Given the description of an element on the screen output the (x, y) to click on. 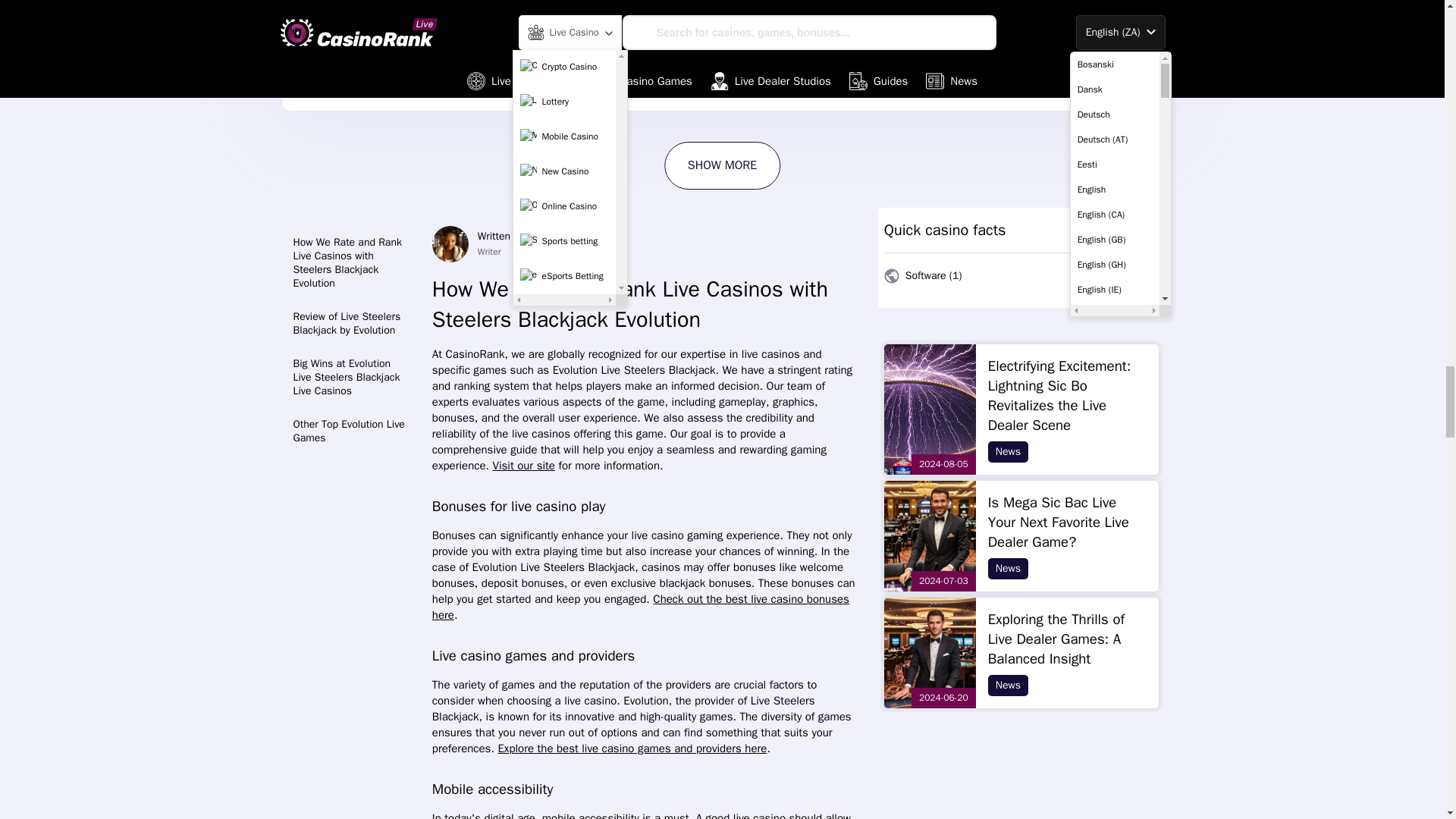
Review of Live Steelers Blackjack by Evolution (352, 323)
Other Top Evolution Live Games (352, 431)
Big Wins at Evolution Live Steelers Blackjack Live Casinos (352, 377)
